Given the description of an element on the screen output the (x, y) to click on. 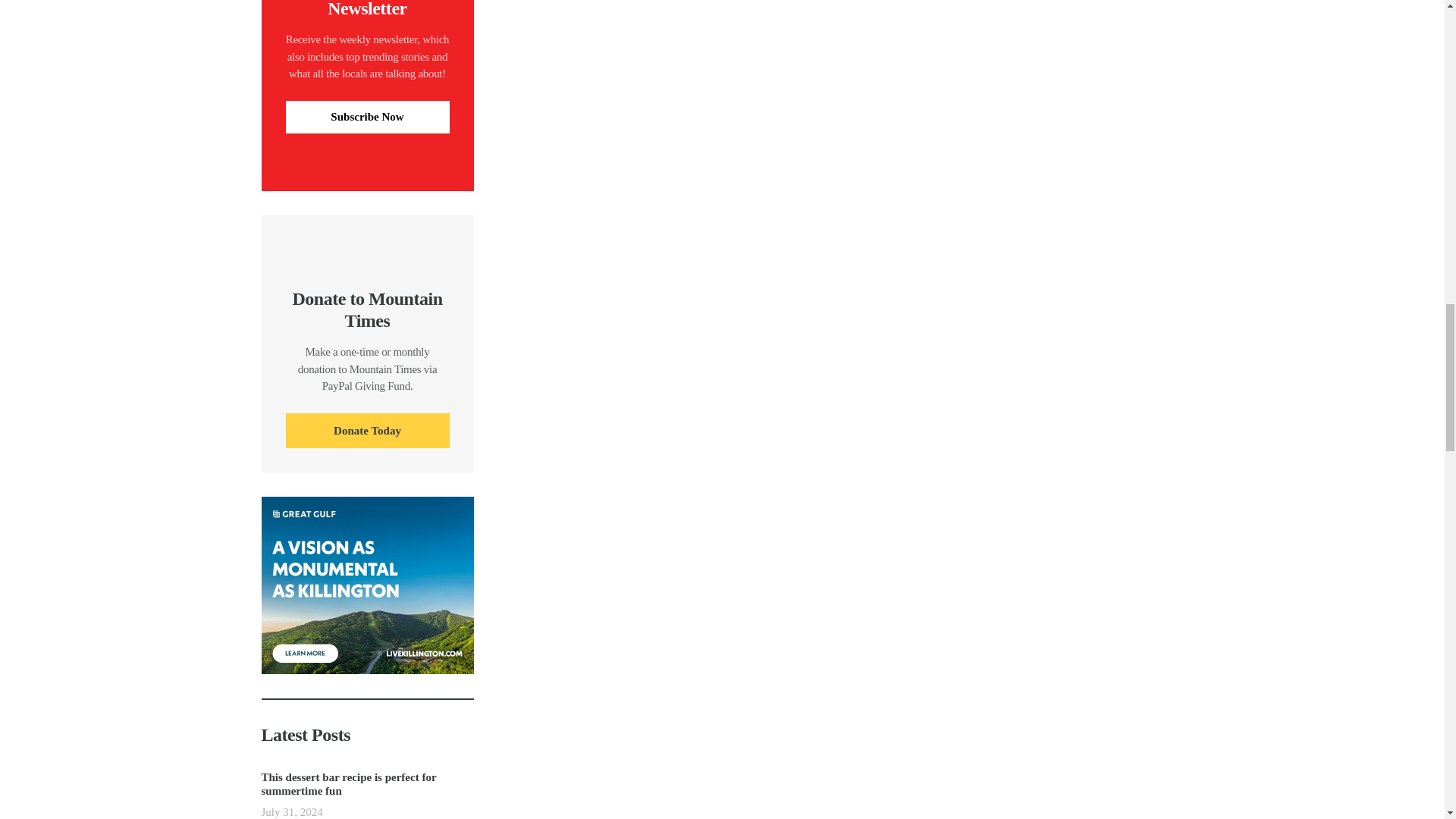
Donate Today (366, 430)
Subscribe Now (366, 116)
